Given the description of an element on the screen output the (x, y) to click on. 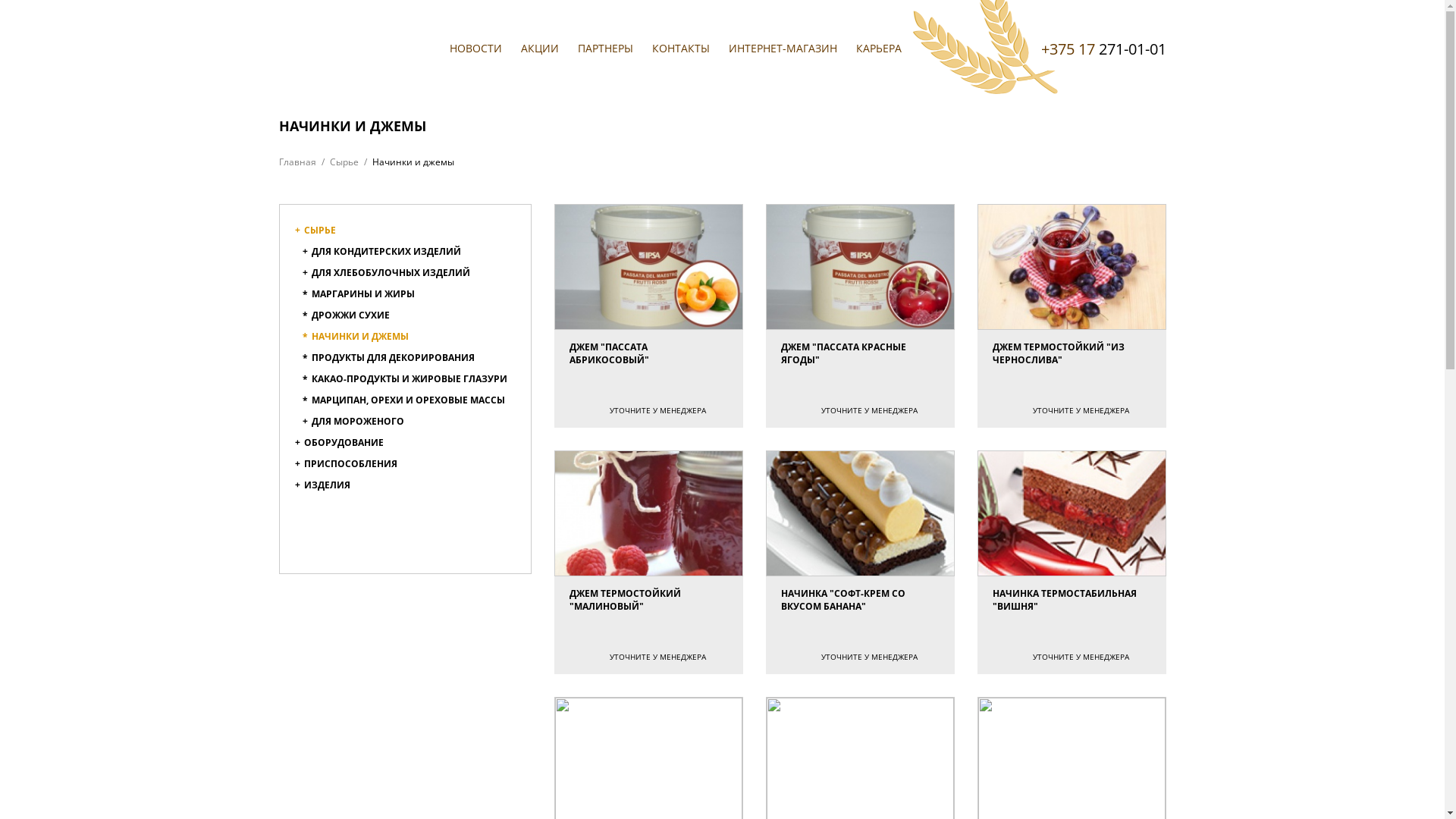
+375 17 271-01-01 Element type: text (1102, 48)
